Given the description of an element on the screen output the (x, y) to click on. 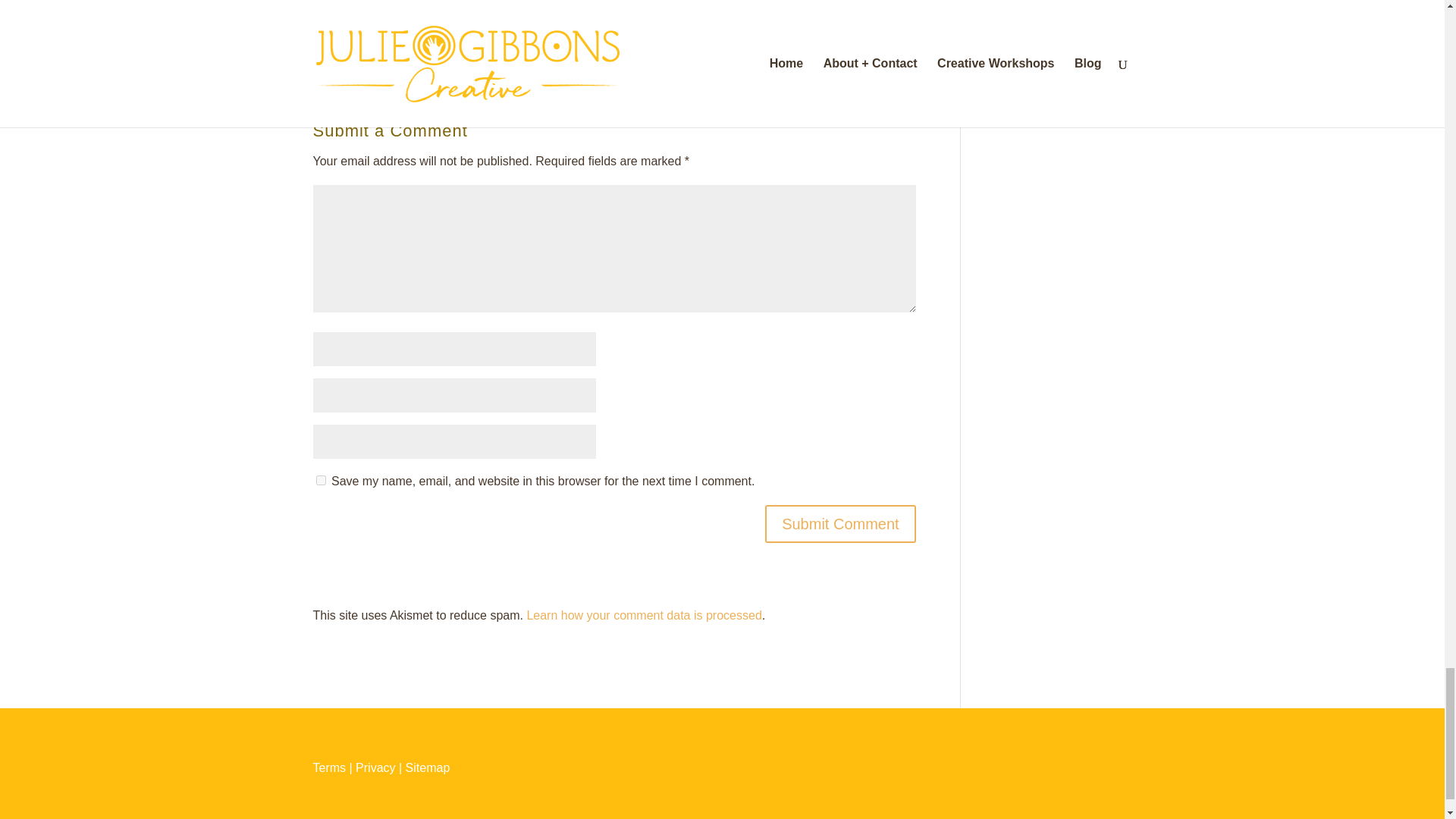
yes (319, 480)
Submit Comment (840, 523)
Submit Comment (840, 523)
